Given the description of an element on the screen output the (x, y) to click on. 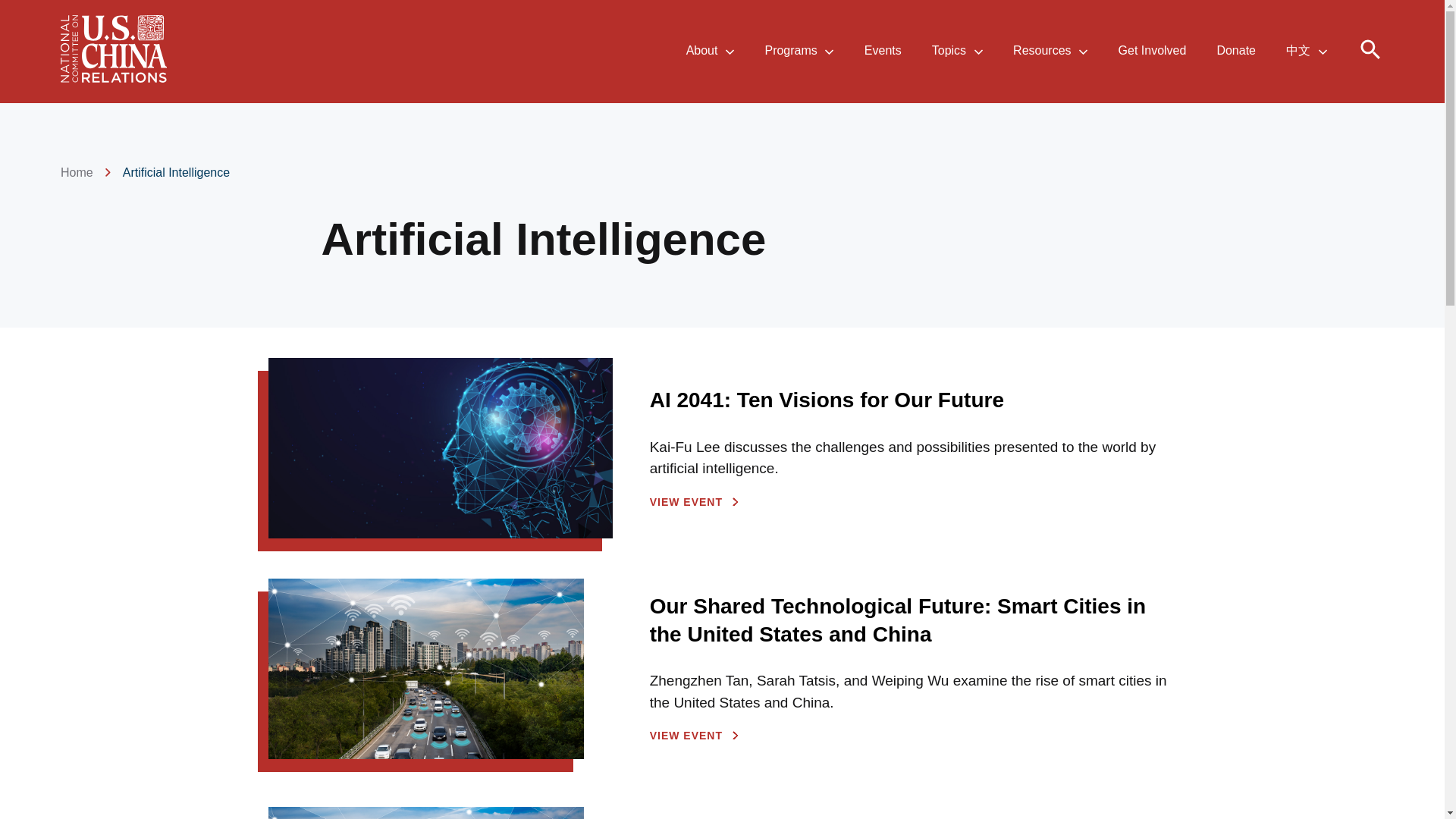
About (701, 51)
Resources (1041, 51)
Submit (1077, 71)
Programs (790, 51)
Get Involved (1152, 51)
Events (882, 51)
Donate (1235, 51)
Topics (948, 51)
